Given the description of an element on the screen output the (x, y) to click on. 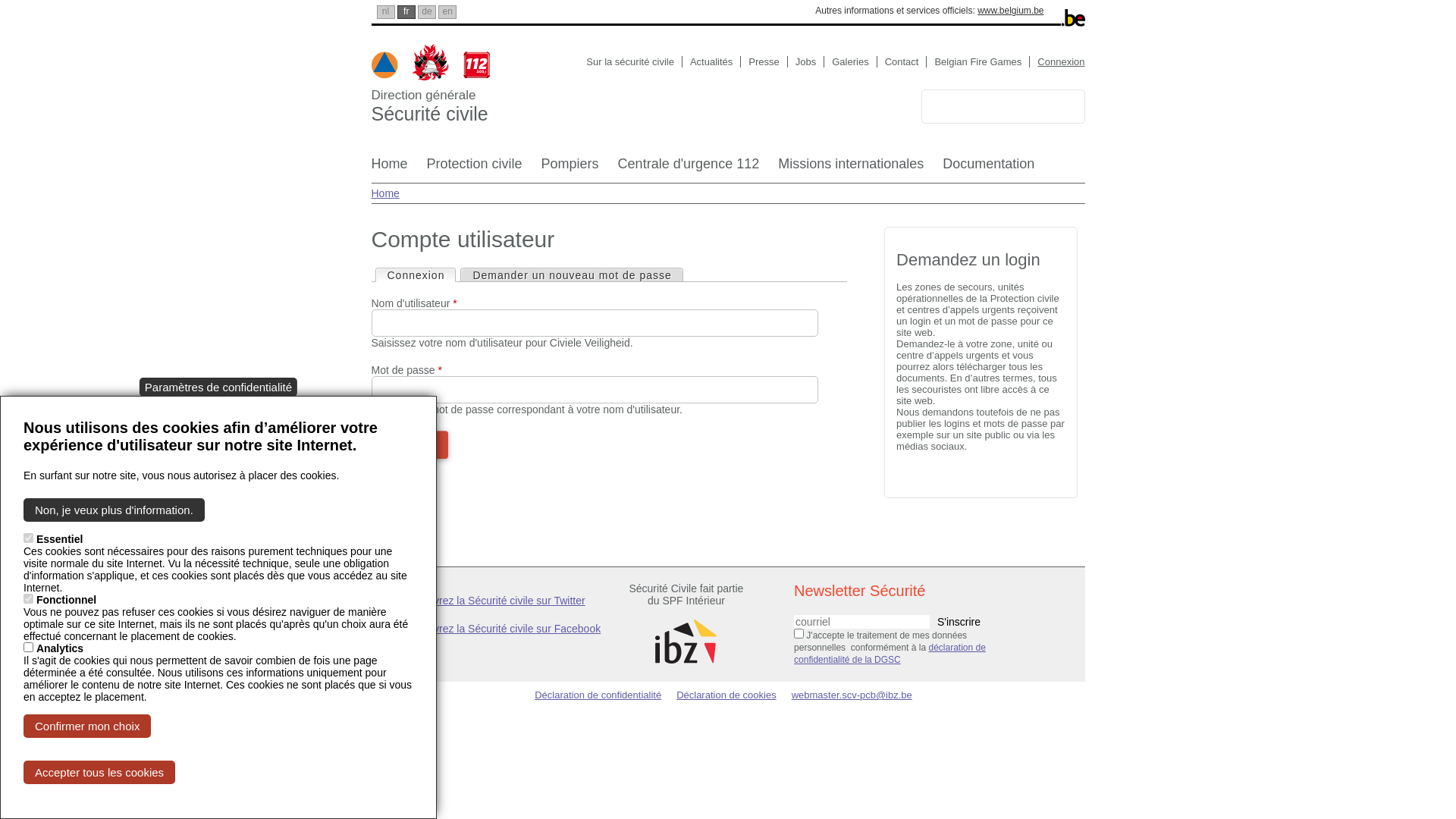
Contact Element type: text (905, 61)
Demander un nouveau mot de passe Element type: text (571, 274)
Accepter tous les cookies Element type: text (99, 772)
Non, je veux plus d'information. Element type: text (113, 509)
de Element type: text (426, 11)
www.belgium.be
(link is external) Element type: text (1014, 10)
Centrale d'urgence 112 Element type: text (688, 169)
Home Element type: text (385, 193)
nl Element type: text (385, 11)
Missions internationales Element type: text (850, 169)
Jobs Element type: text (809, 61)
Protection civile Element type: text (474, 169)
Rechercher Element type: text (1065, 106)
Galeries Element type: text (853, 61)
Home Element type: text (389, 169)
fr Element type: text (406, 11)
Connexion
(onglet actif) Element type: text (415, 274)
Belgian Fire Games Element type: text (981, 61)
Connexion Element type: text (409, 444)
en Element type: text (447, 11)
Connexion Element type: text (1060, 61)
Documentation Element type: text (988, 169)
Pompiers Element type: text (570, 169)
Saisissez les termes que vous voulez rechercher. Element type: hover (981, 106)
S'inscrire Element type: text (958, 621)
Presse Element type: text (767, 61)
webmaster.scv-pcb@ibz.be
(link sends e-mail) Element type: text (856, 694)
Confirmer mon choix Element type: text (86, 725)
